Given the description of an element on the screen output the (x, y) to click on. 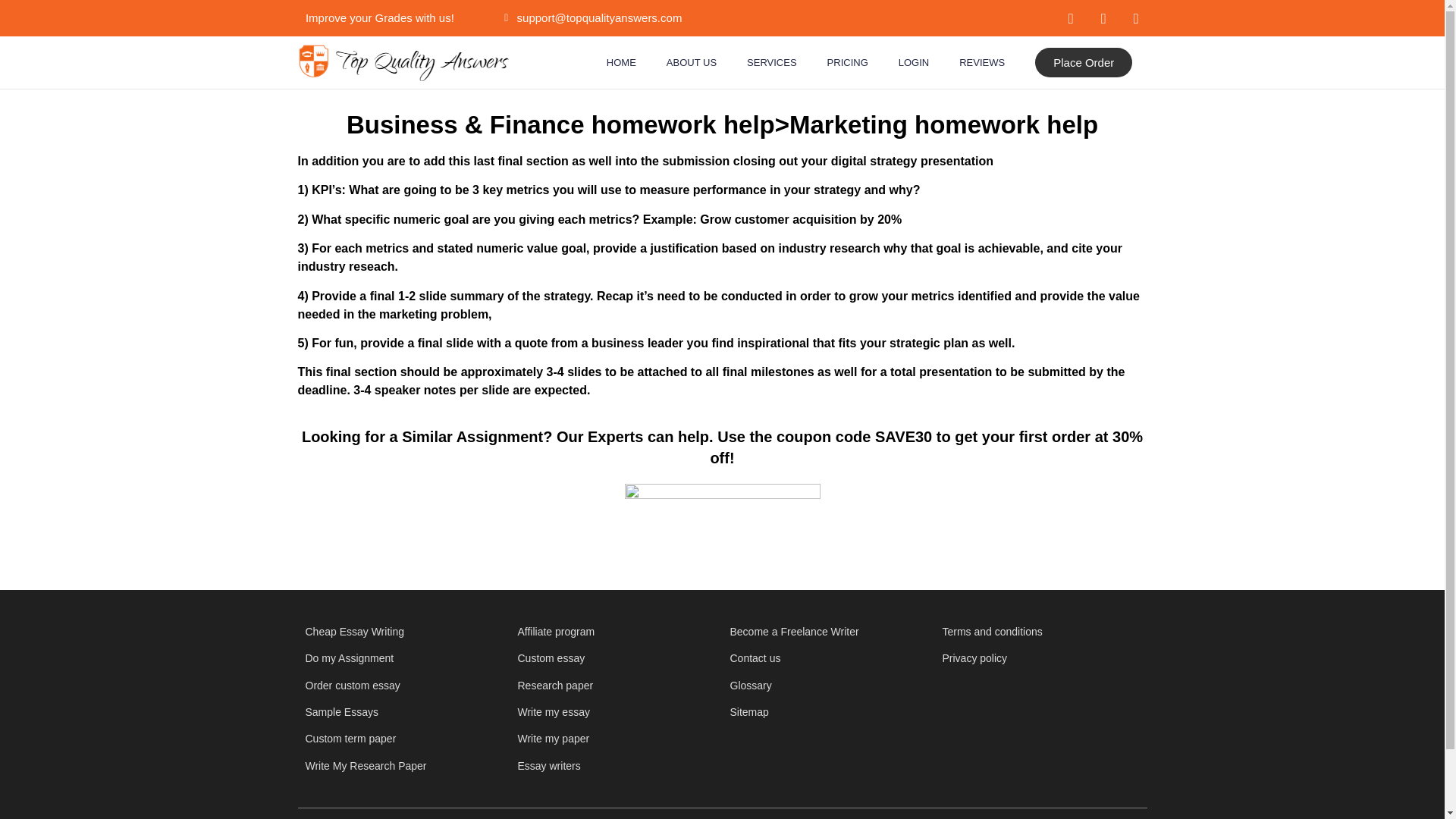
PRICING (847, 62)
REVIEWS (981, 62)
HOME (620, 62)
LOGIN (913, 62)
ABOUT US (691, 62)
Place Order (1083, 61)
SERVICES (772, 62)
